Given the description of an element on the screen output the (x, y) to click on. 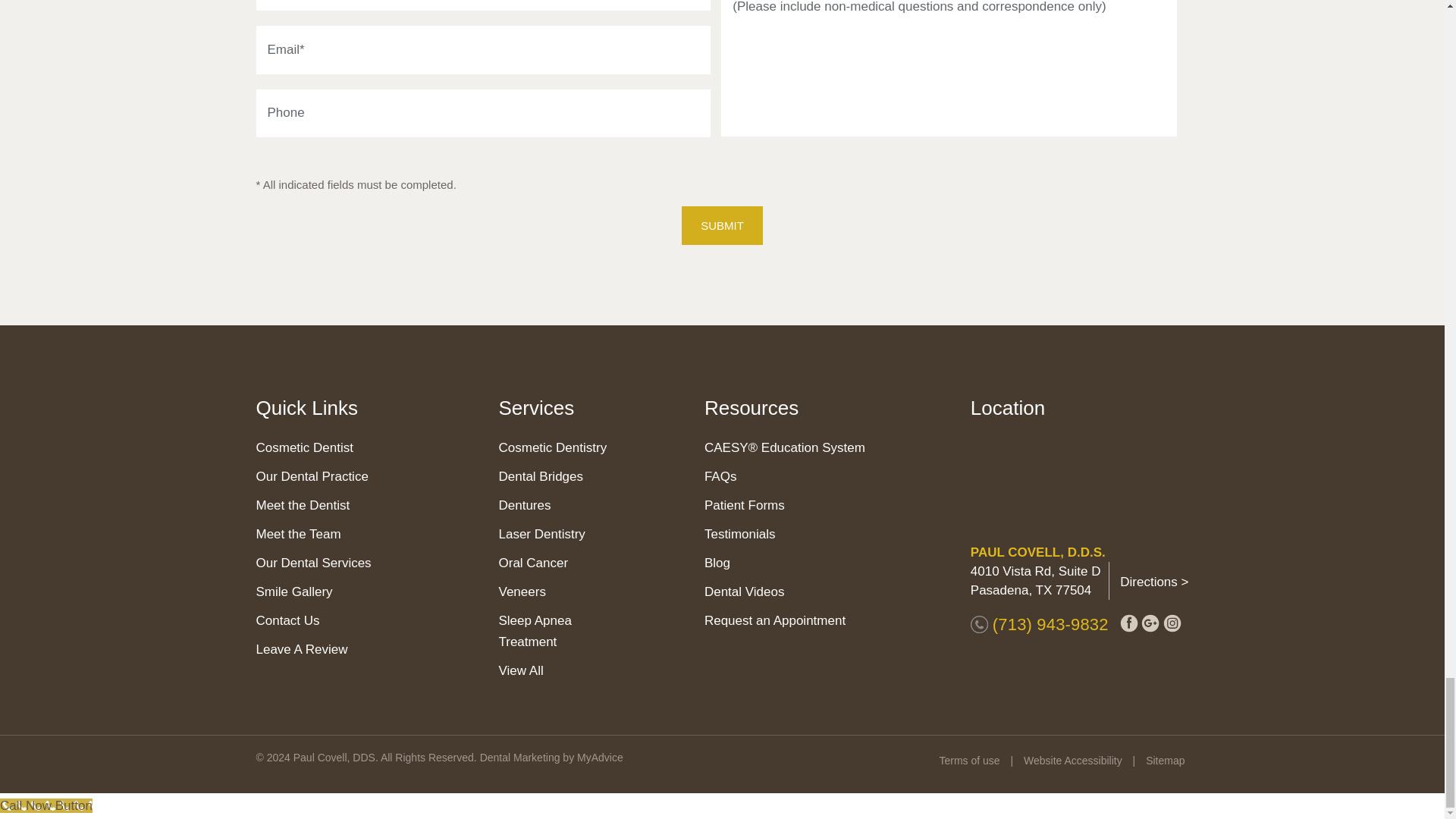
Submit (721, 225)
